Given the description of an element on the screen output the (x, y) to click on. 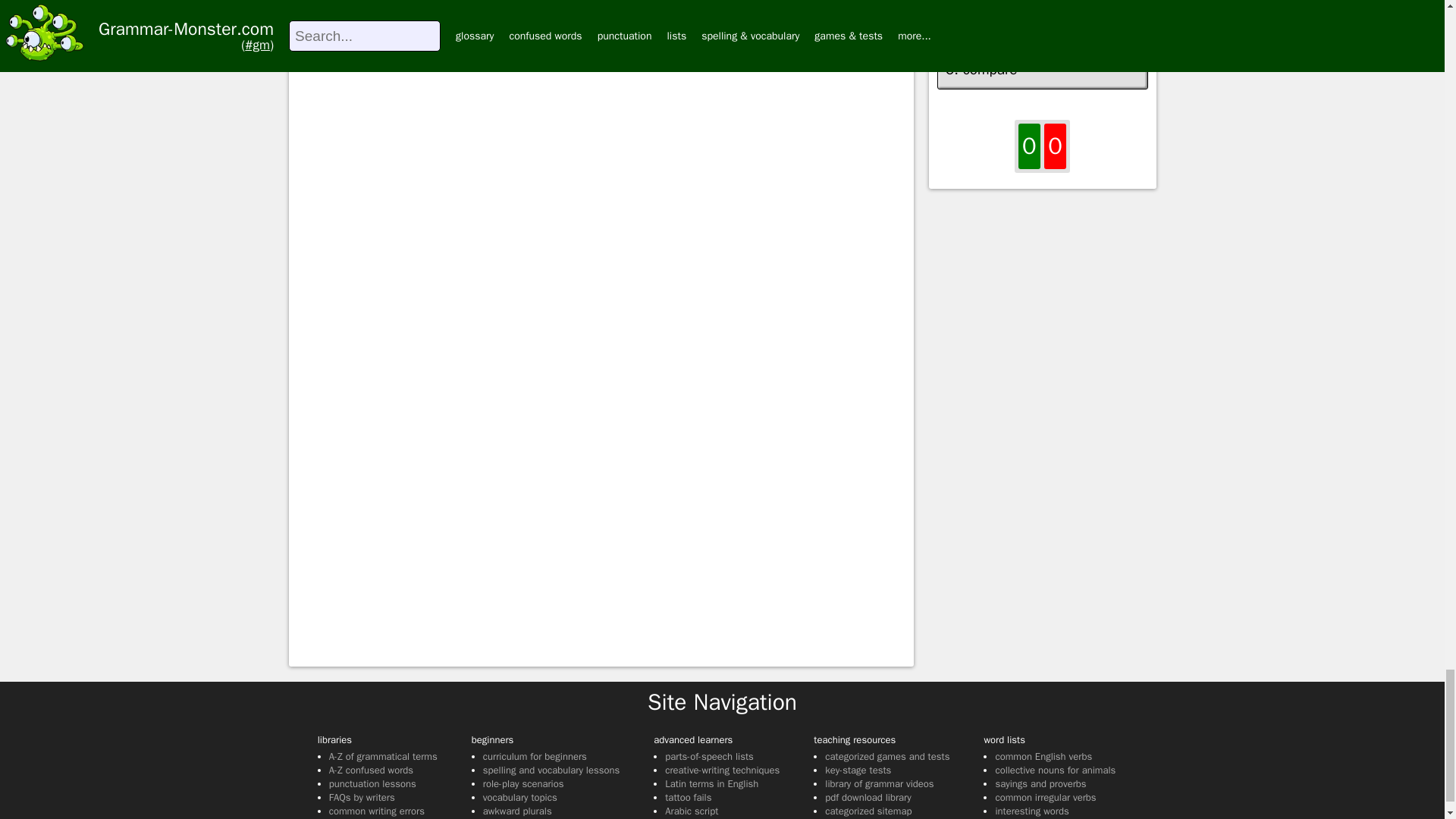
A-Z of grammatical terms (383, 756)
